Given the description of an element on the screen output the (x, y) to click on. 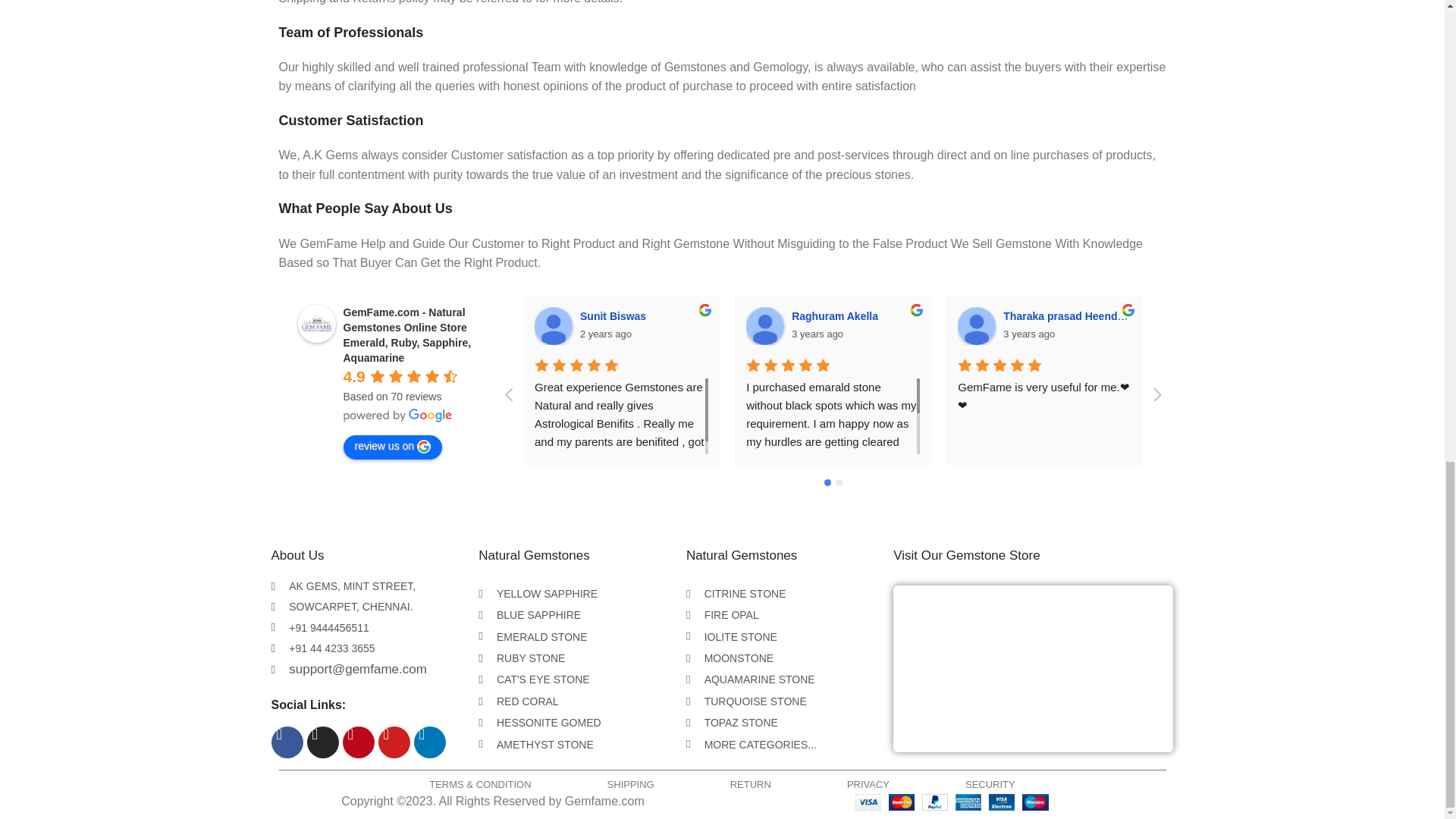
Raghuram Akella (764, 325)
Sunit Biswas (553, 325)
powered by Google (396, 415)
Tharaka prasad Heendeniya (976, 325)
